Given the description of an element on the screen output the (x, y) to click on. 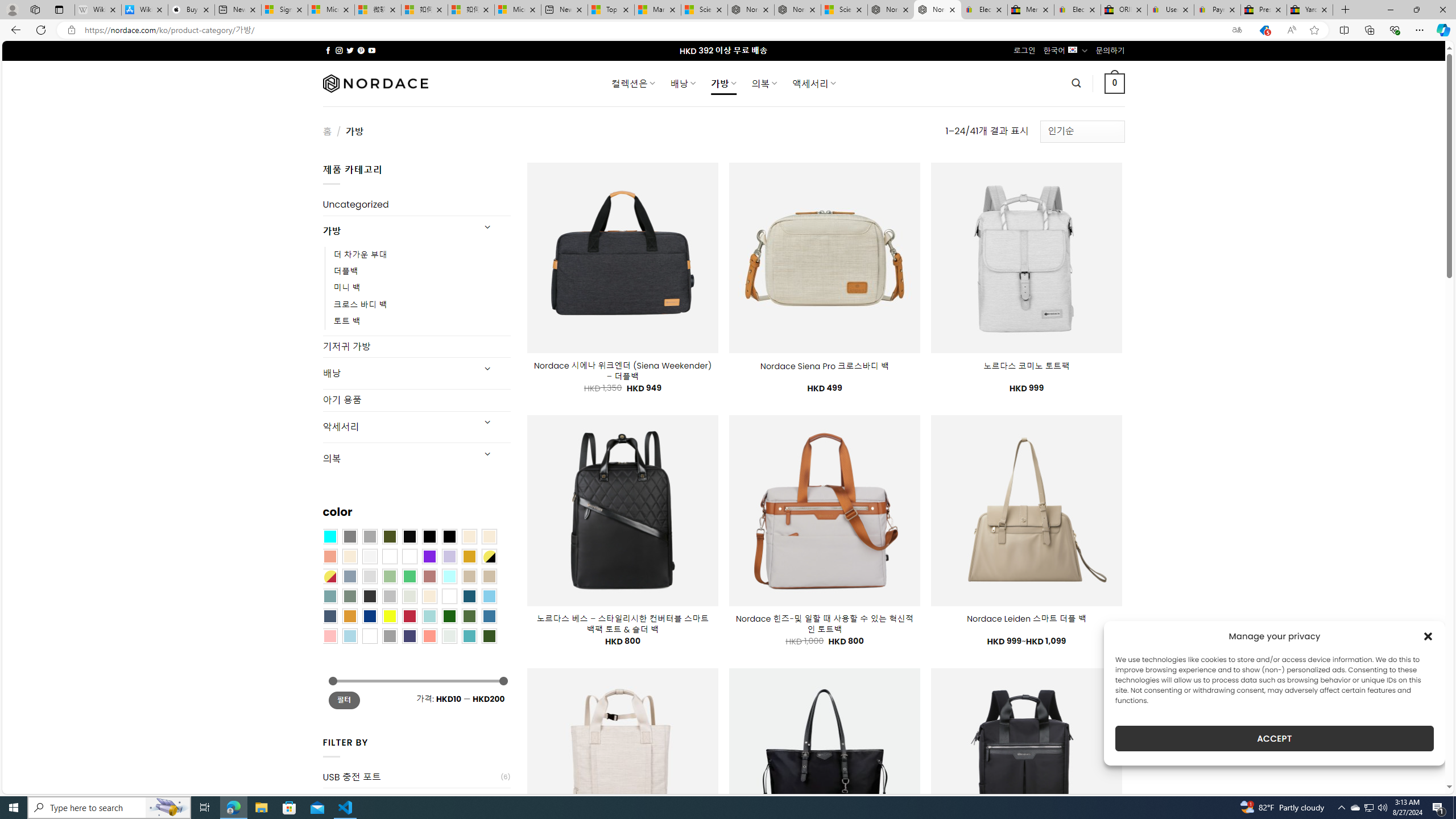
Purple (429, 555)
